Given the description of an element on the screen output the (x, y) to click on. 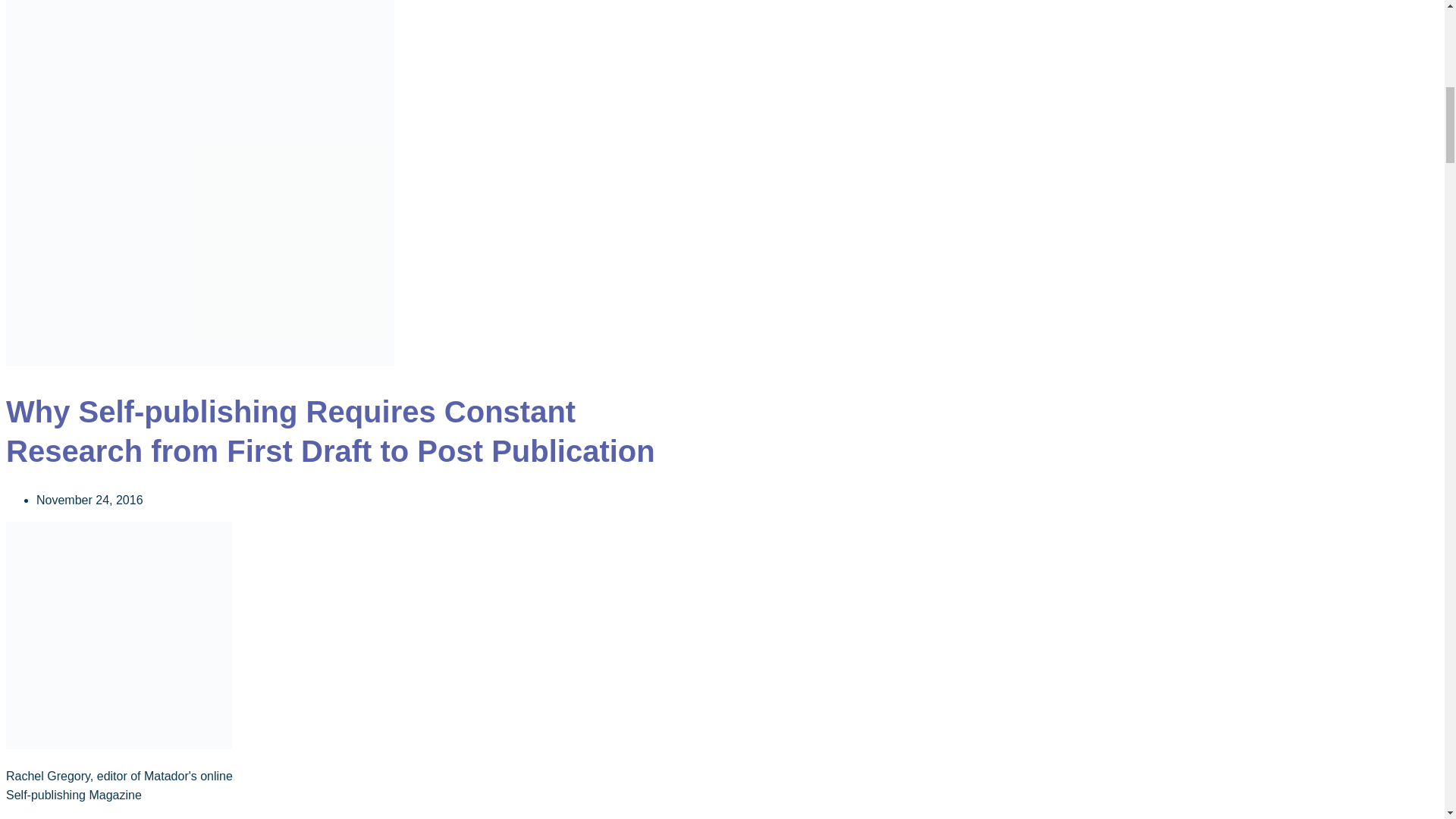
Enlarge Image (199, 361)
